Given the description of an element on the screen output the (x, y) to click on. 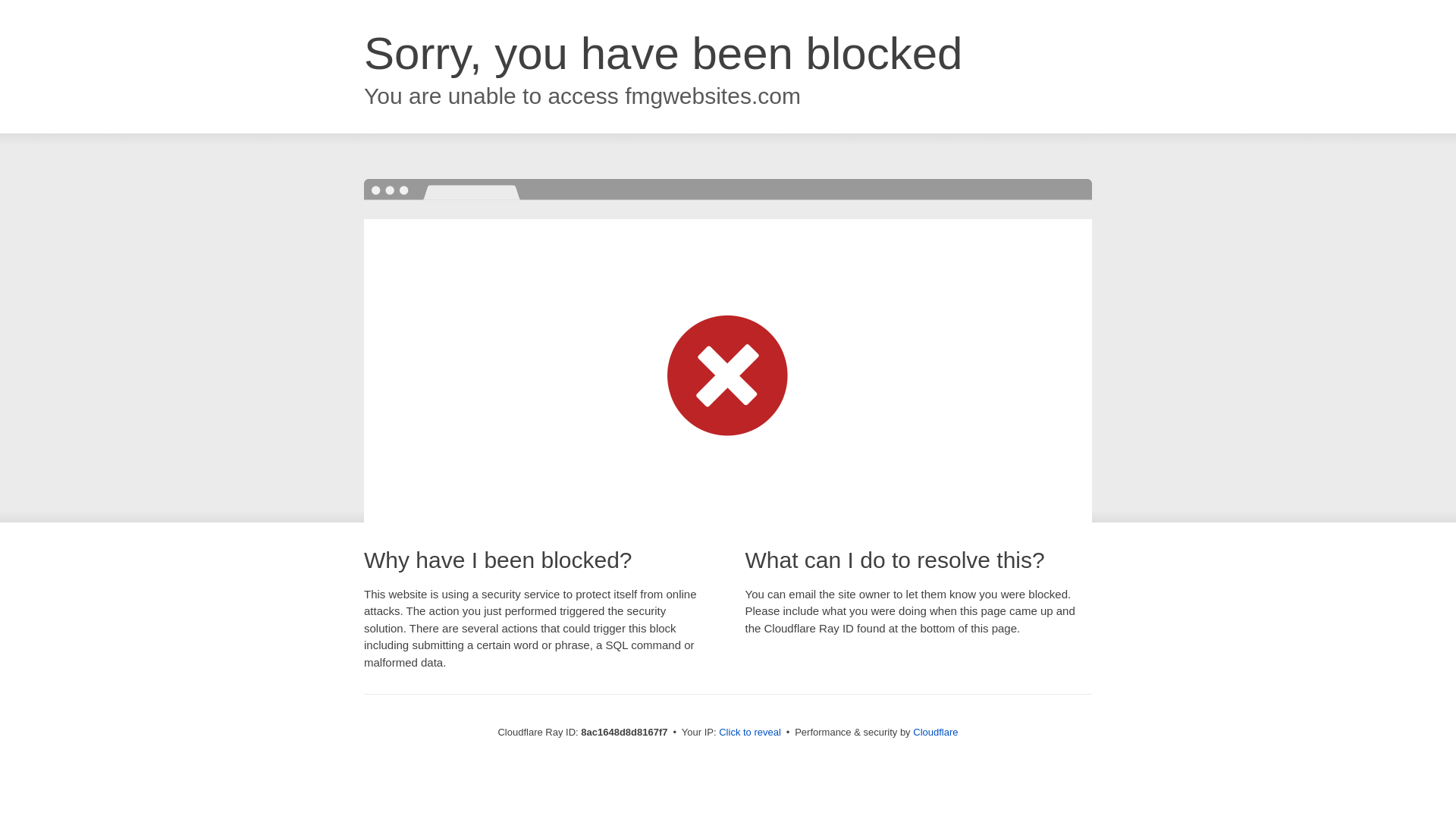
Click to reveal (749, 732)
Cloudflare (935, 731)
